Given the description of an element on the screen output the (x, y) to click on. 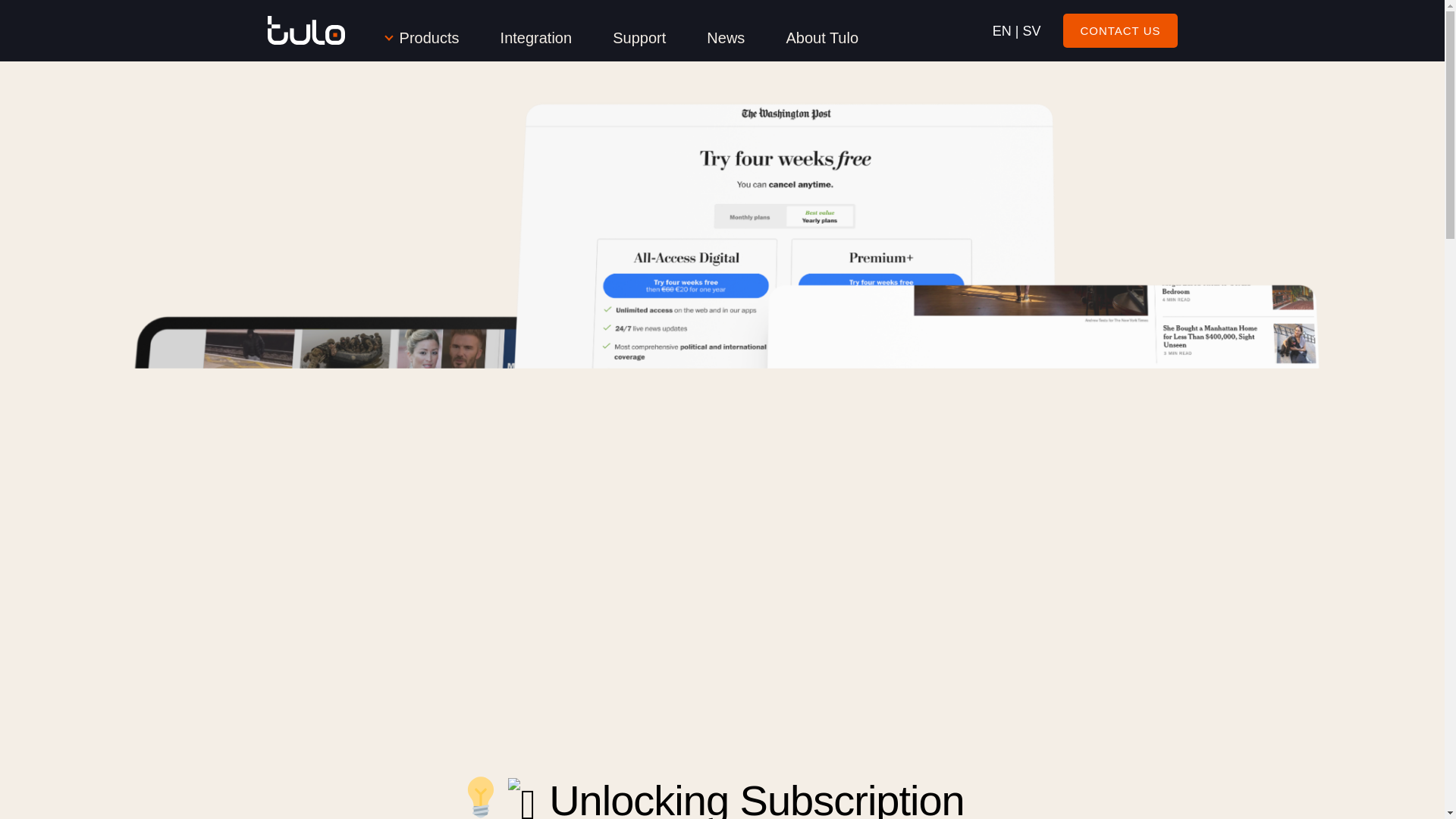
SV (1031, 29)
Integration (536, 37)
EN (1001, 29)
Support (638, 37)
CONTACT US (1119, 30)
About Tulo (822, 37)
News (725, 37)
